Given the description of an element on the screen output the (x, y) to click on. 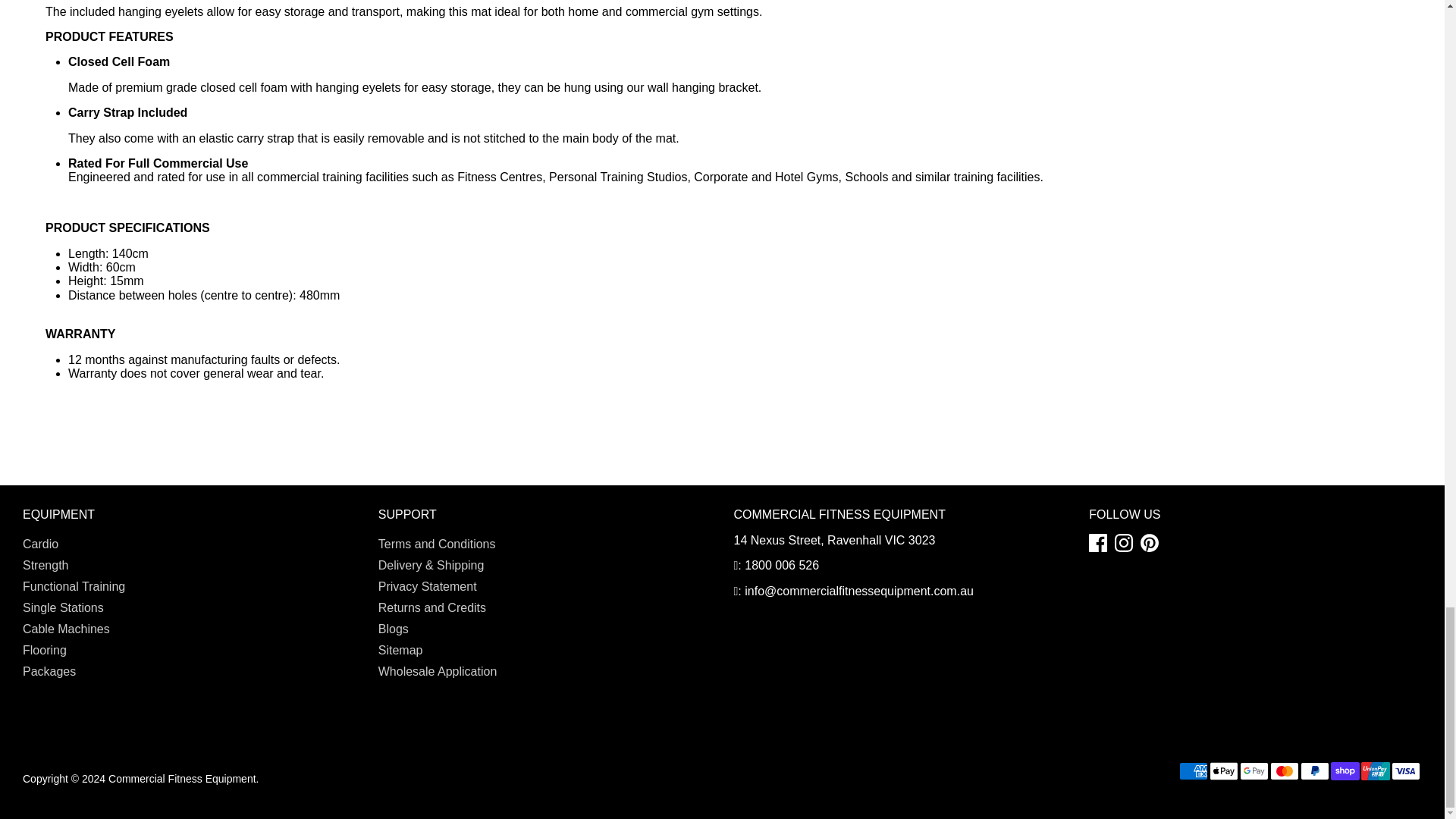
Visa (1406, 771)
Google Pay (1254, 771)
PayPal (1314, 771)
Mastercard (1283, 771)
Apple Pay (1224, 771)
Shop Pay (1344, 771)
Union Pay (1375, 771)
American Express (1193, 771)
